Given the description of an element on the screen output the (x, y) to click on. 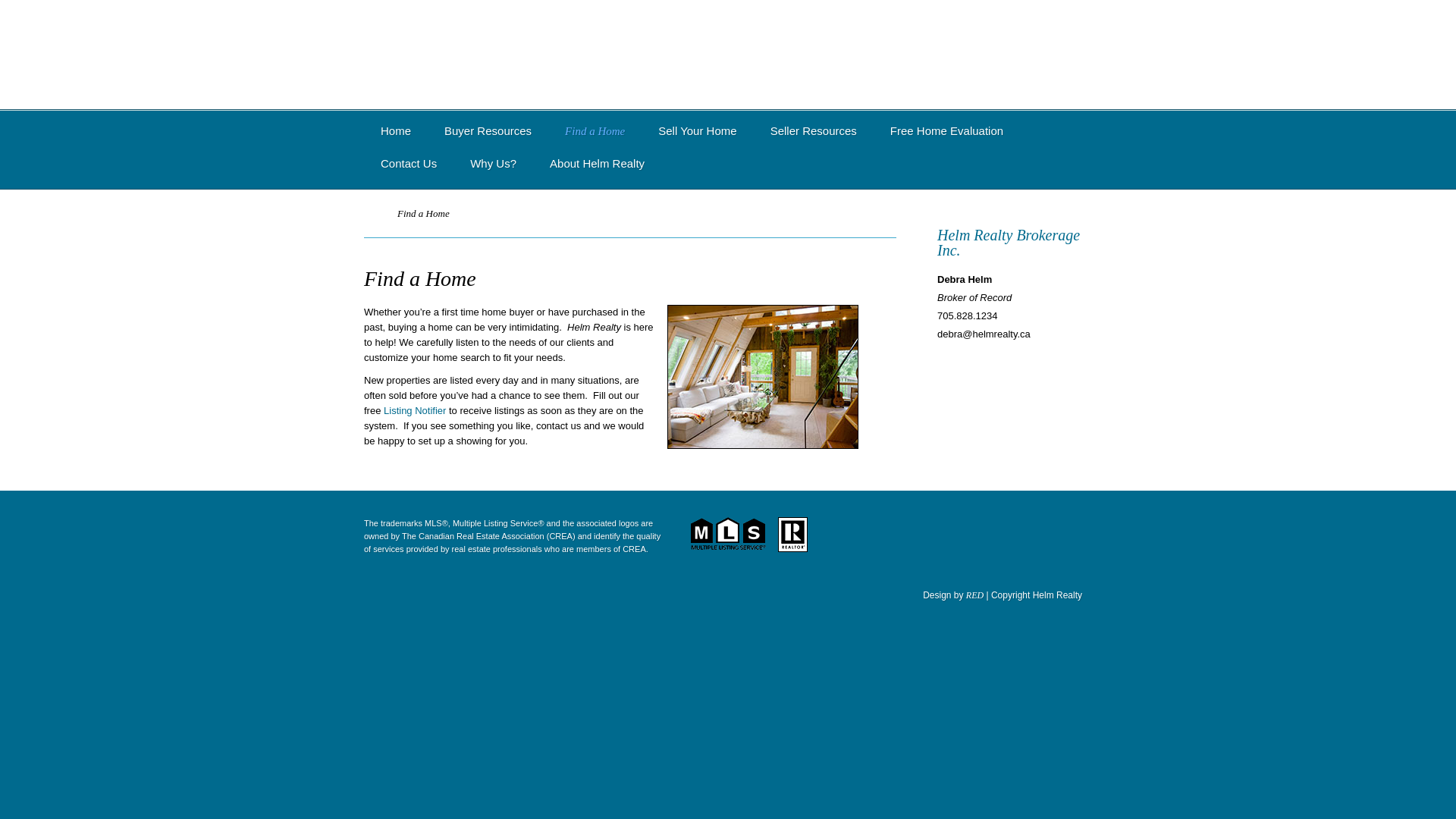
RED (975, 594)
Why Us? (492, 172)
Seller Resources (813, 139)
Find a Home (595, 139)
Home (375, 213)
About Helm Realty (596, 172)
RED (975, 594)
Sell Your Home (697, 139)
Free Home Evaluation (946, 139)
Buyer Resources (488, 139)
